Given the description of an element on the screen output the (x, y) to click on. 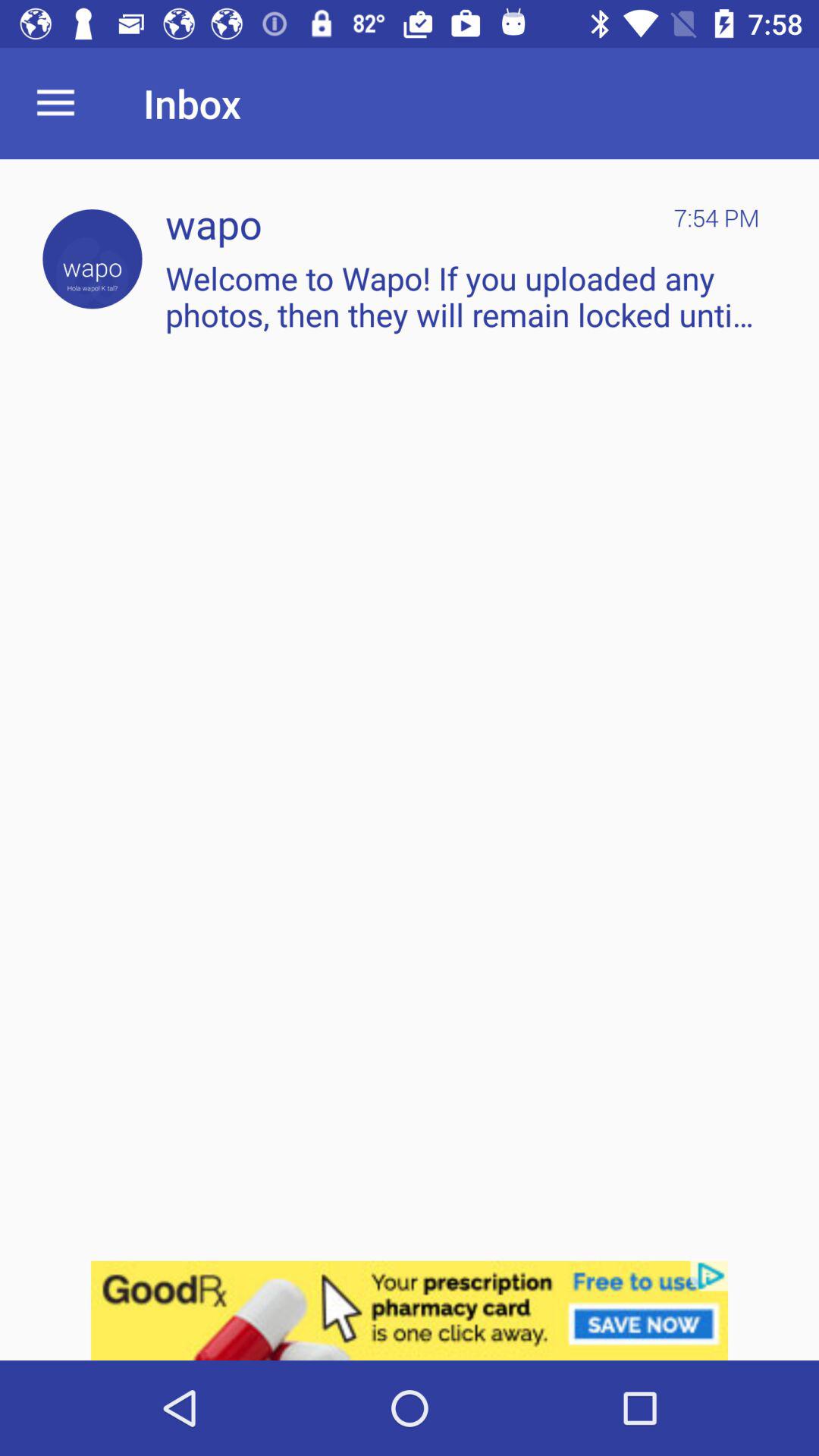
click wapo icon (92, 258)
